Given the description of an element on the screen output the (x, y) to click on. 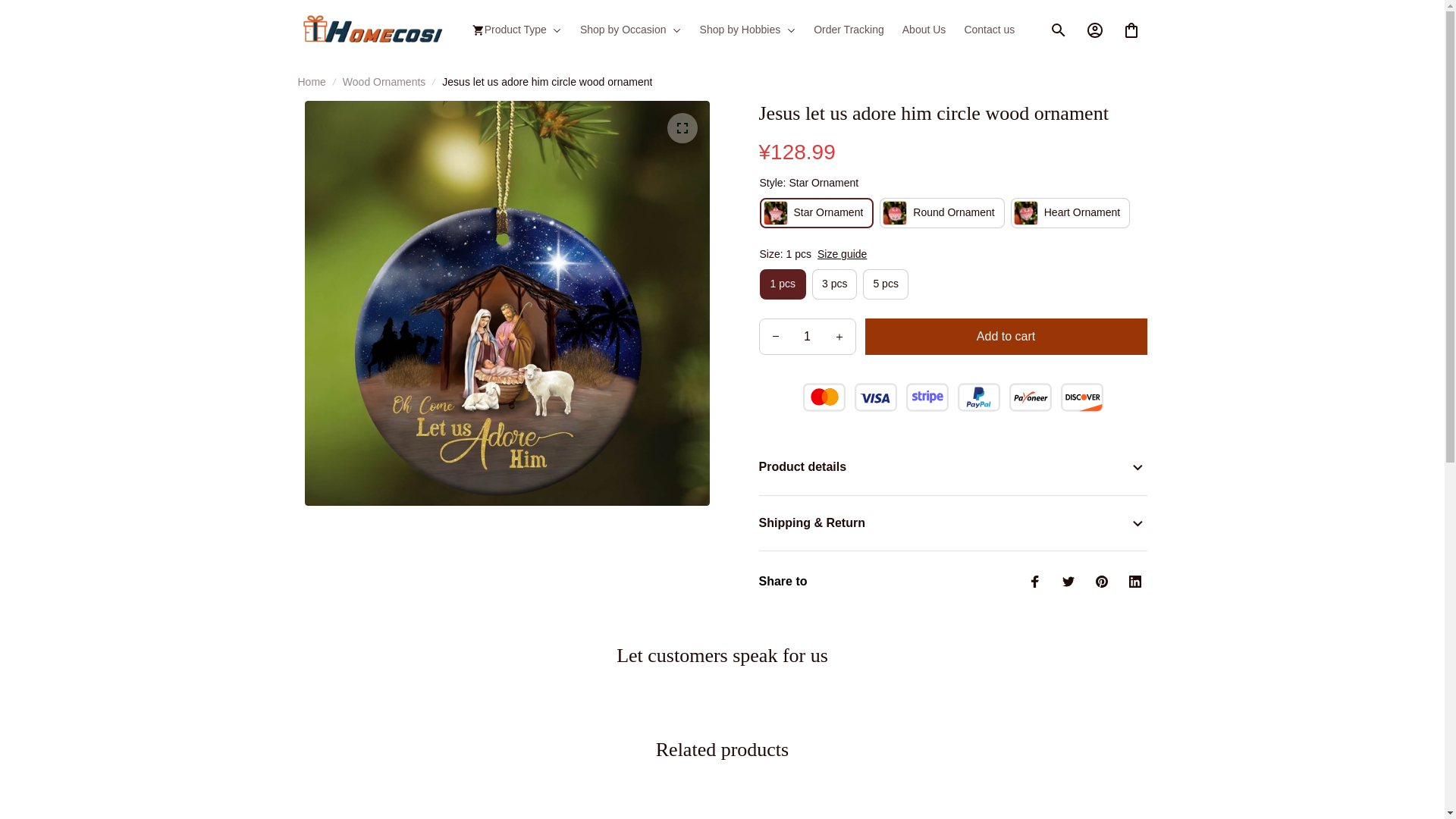
Home (310, 81)
Order Tracking (849, 30)
1 (808, 336)
Wood Ornaments (383, 81)
Contact us (984, 30)
About Us (924, 30)
Product Type (520, 30)
